Given the description of an element on the screen output the (x, y) to click on. 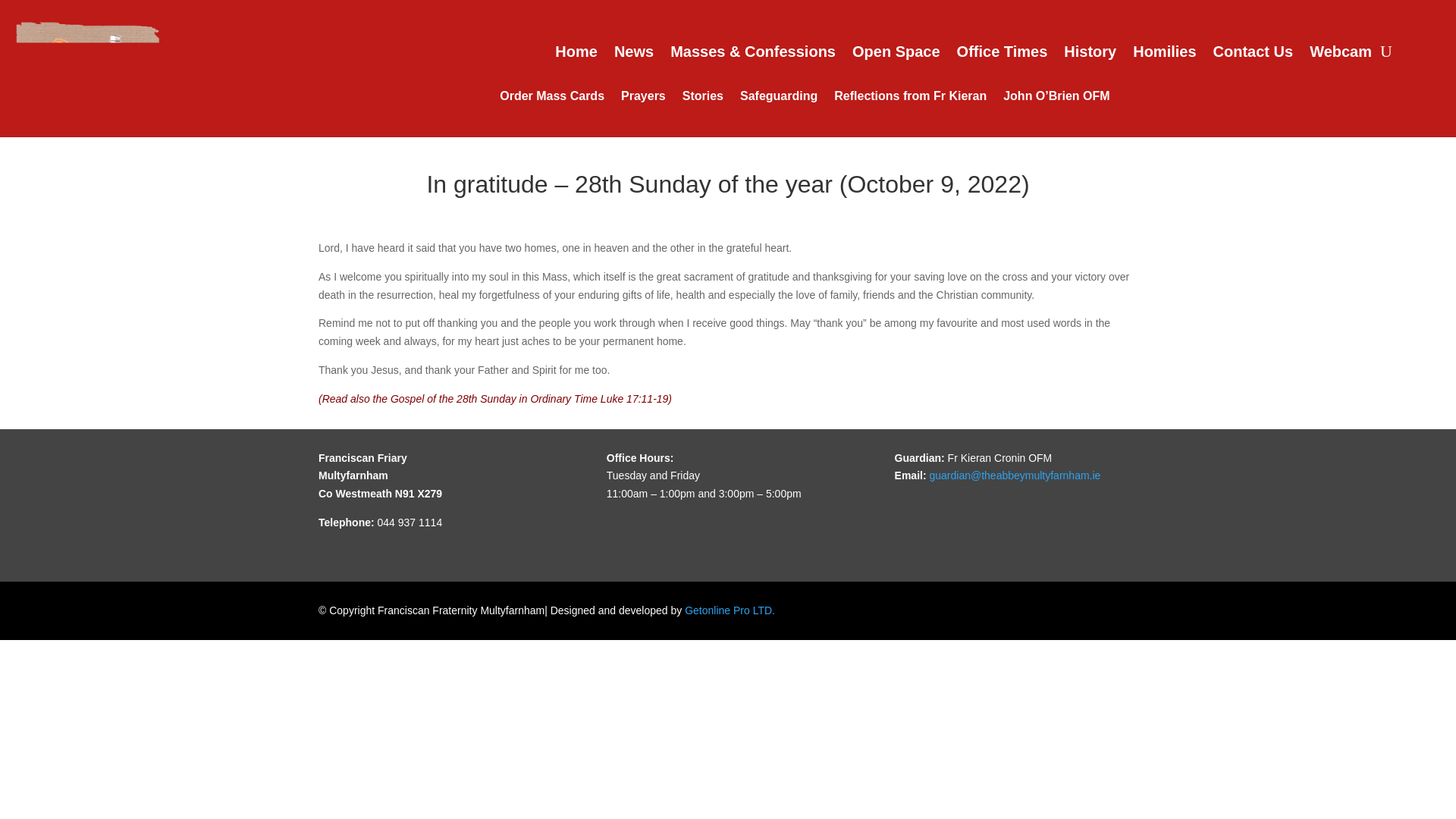
Prayers (643, 98)
News (633, 54)
History (1090, 54)
Open Space (895, 54)
Homilies (1163, 54)
Webcam (1339, 54)
Home (575, 54)
Safeguarding (777, 98)
Getonline Pro LTD. (729, 610)
Order Mass Cards (551, 98)
